Given the description of an element on the screen output the (x, y) to click on. 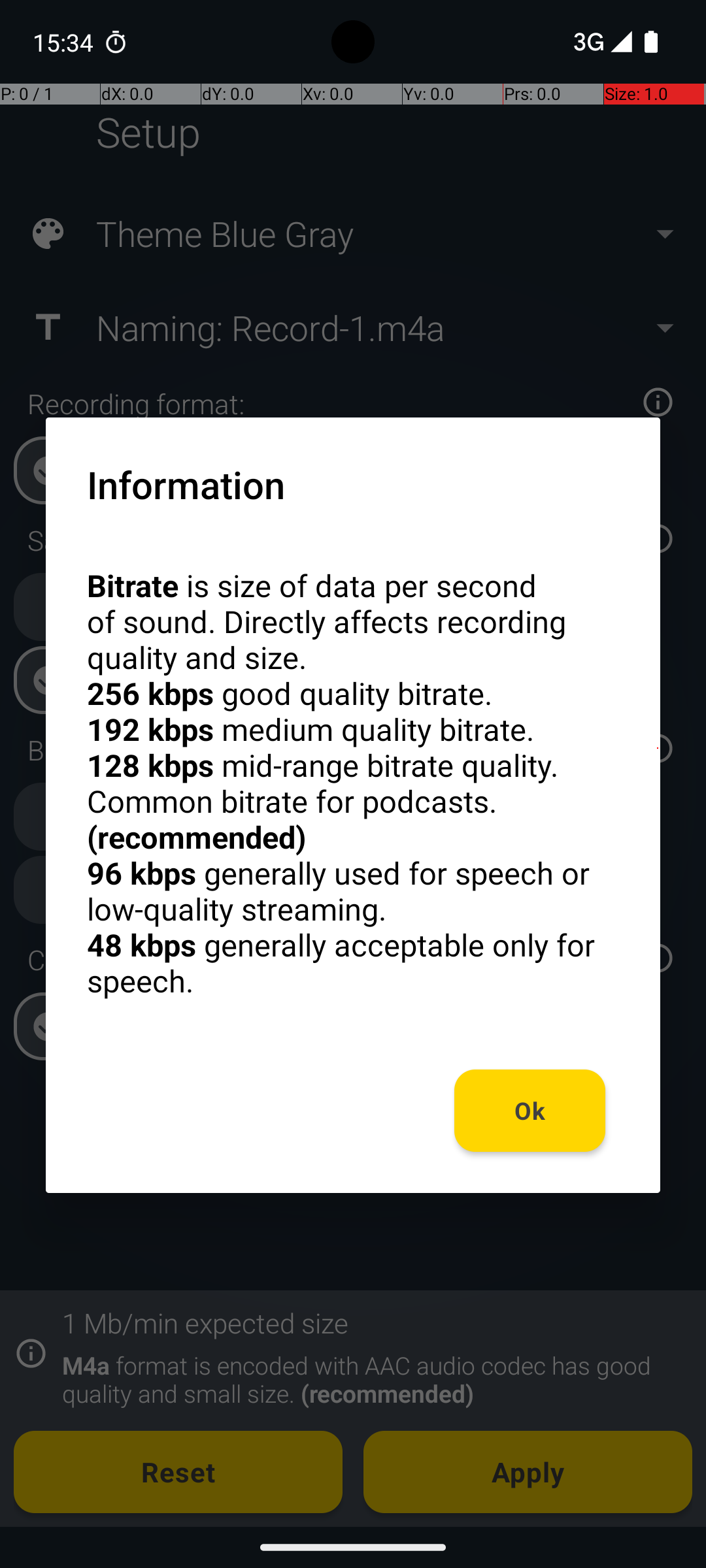
Bitrate is size of data per second of sound. Directly affects recording quality and size. 
256 kbps good quality bitrate. 
192 kbps medium quality bitrate. 
128 kbps mid-range bitrate quality. Common bitrate for podcasts. (recommended) 
96 kbps generally used for speech or low-quality streaming. 
48 kbps generally acceptable only for speech.  Element type: android.widget.TextView (352, 782)
3G Element type: android.widget.ImageView (587, 41)
